Given the description of an element on the screen output the (x, y) to click on. 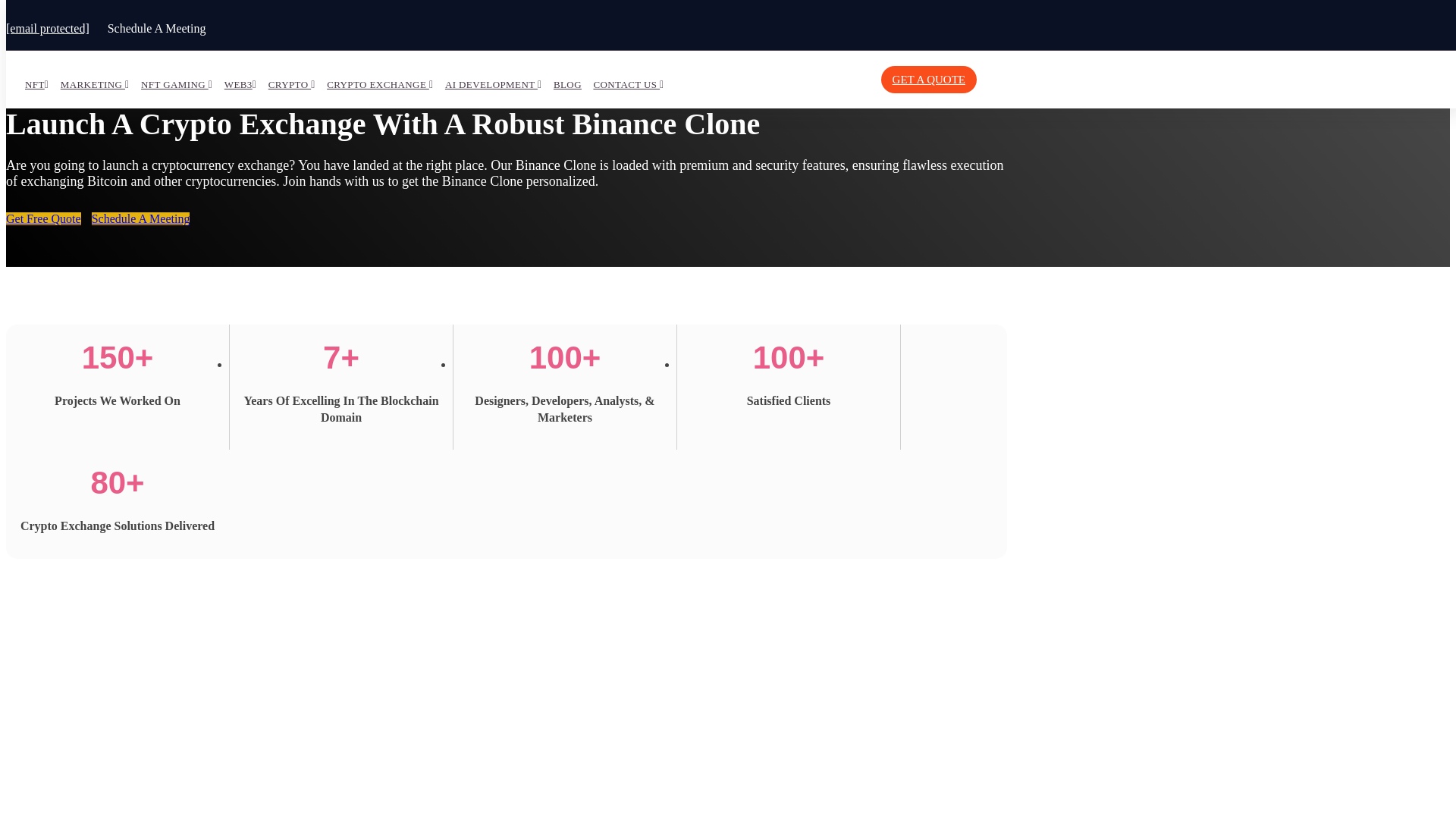
NFT (36, 84)
Schedule A Meeting (156, 28)
Schedule A Meeting (140, 218)
